Given the description of an element on the screen output the (x, y) to click on. 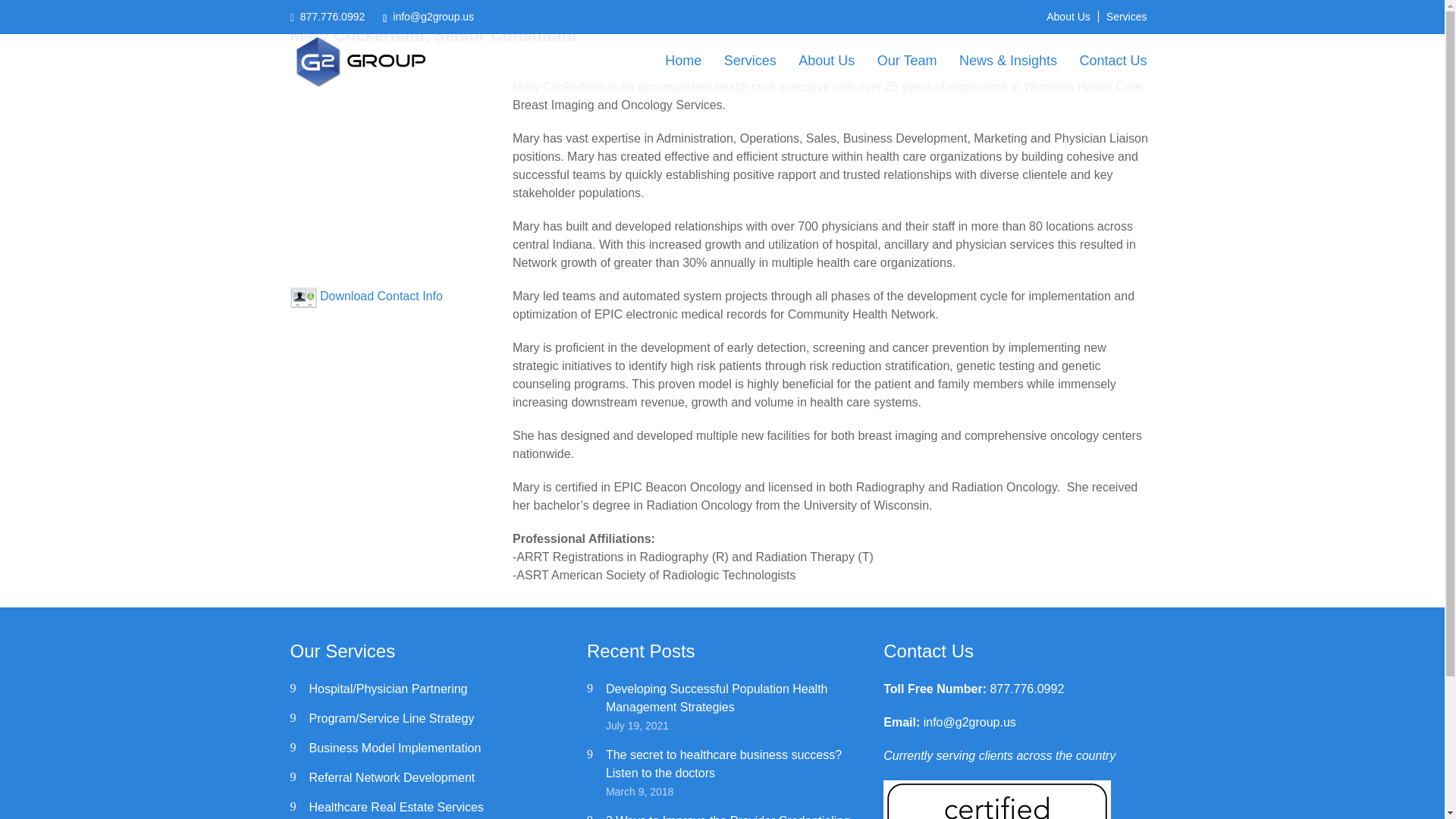
Services (1126, 16)
3 Ways to Improve the Provider Credentialing Process (727, 816)
Business Model Implementation (394, 748)
Home (683, 60)
877.776.0992 (1027, 688)
Healthcare Real Estate Services (395, 807)
Our Team (906, 60)
Download Contact Info (381, 295)
About Us (1068, 16)
